Given the description of an element on the screen output the (x, y) to click on. 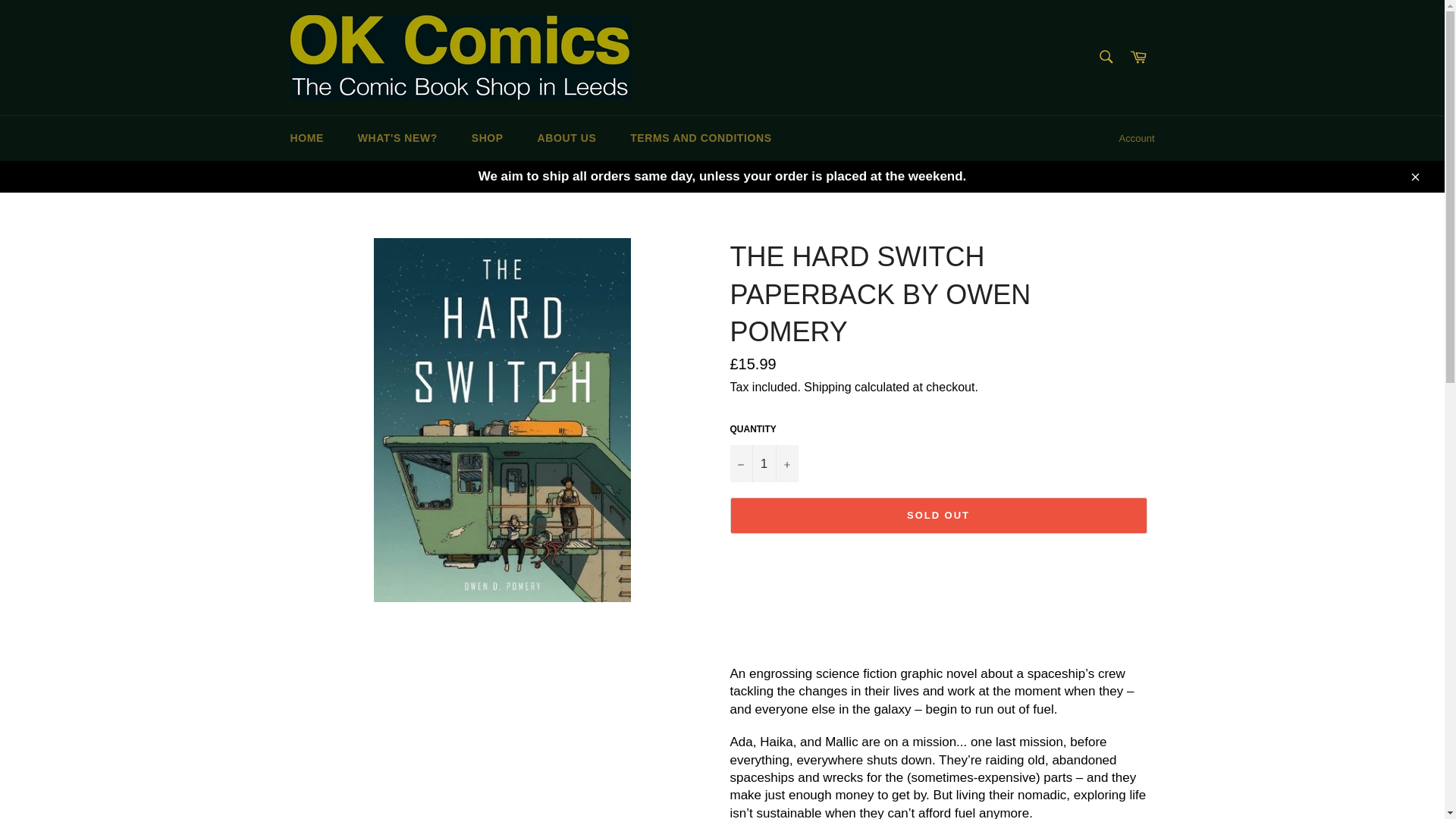
TERMS AND CONDITIONS (700, 138)
WHAT'S NEW? (397, 138)
Cart (1138, 57)
ABOUT US (566, 138)
Account (1136, 138)
SHOP (487, 138)
Search (1104, 56)
1 (763, 463)
Close (1414, 175)
HOME (306, 138)
